Given the description of an element on the screen output the (x, y) to click on. 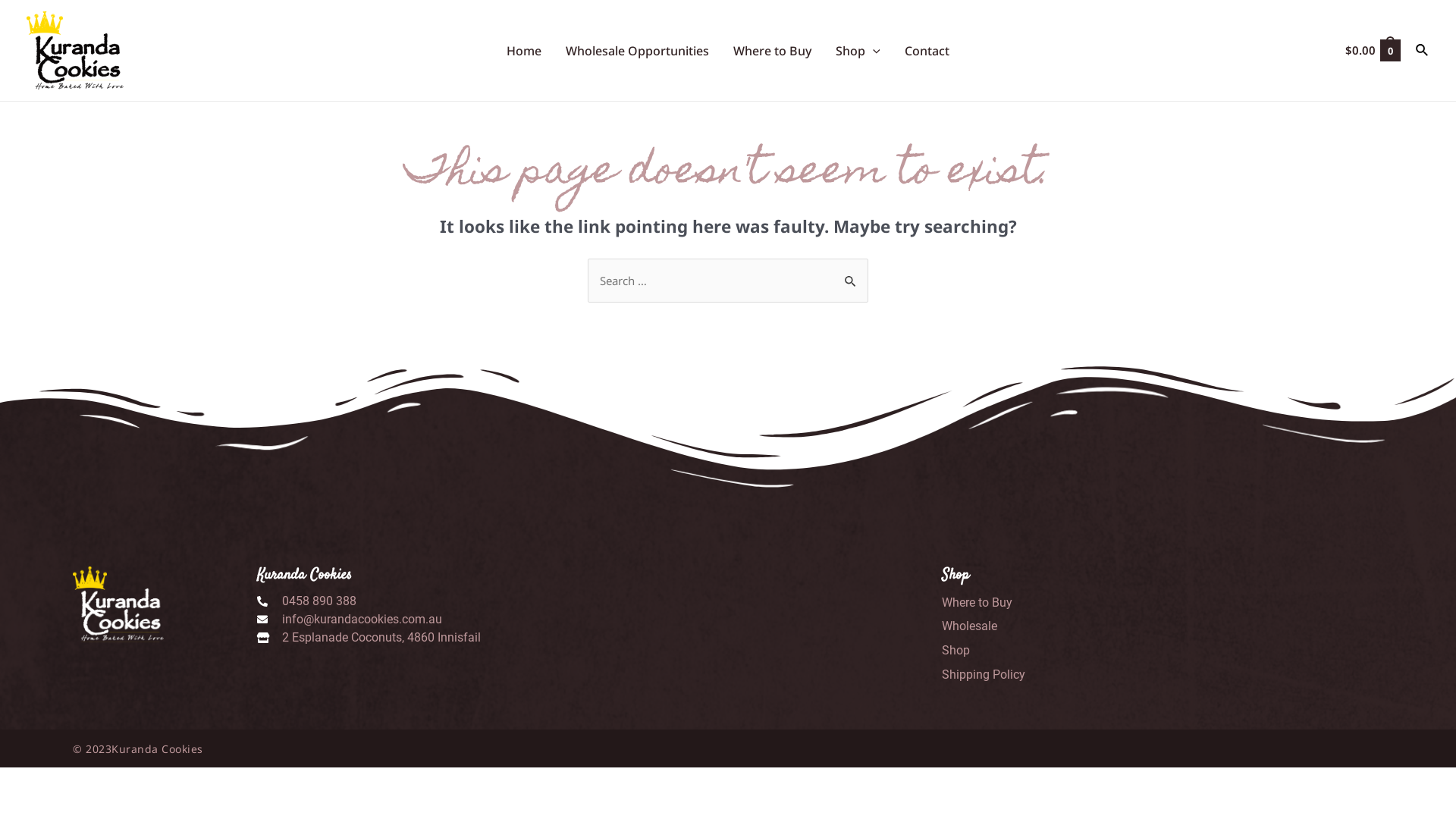
Wholesale Element type: text (1159, 626)
0458 890 388 Element type: text (599, 600)
Search Element type: text (851, 273)
Shop Element type: text (857, 50)
Contact Element type: text (926, 50)
Shop Element type: text (1159, 651)
info@kurandacookies.com.au Element type: text (599, 618)
$0.00
0 Element type: text (1371, 49)
Wholesale Opportunities Element type: text (637, 50)
Home Element type: text (523, 50)
Where to Buy Element type: text (772, 50)
Where to Buy Element type: text (1159, 602)
Shipping Policy Element type: text (1159, 675)
